Given the description of an element on the screen output the (x, y) to click on. 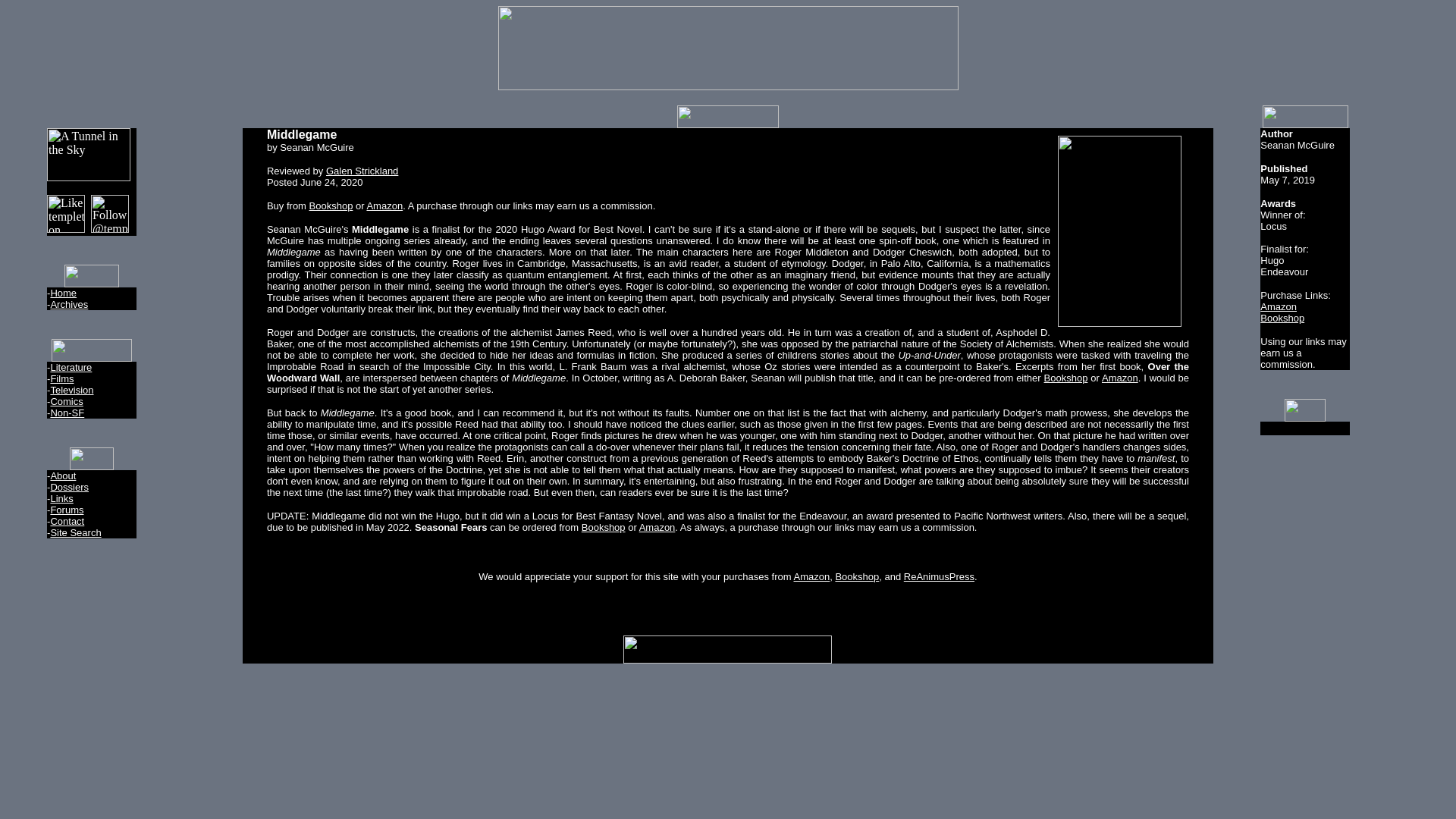
Bookshop (1065, 378)
About (62, 475)
Non-SF (66, 412)
Dossiers (68, 487)
Contact (66, 521)
Home (63, 292)
Television (71, 389)
Amazon (657, 527)
Forums (65, 509)
Bookshop (856, 576)
